Given the description of an element on the screen output the (x, y) to click on. 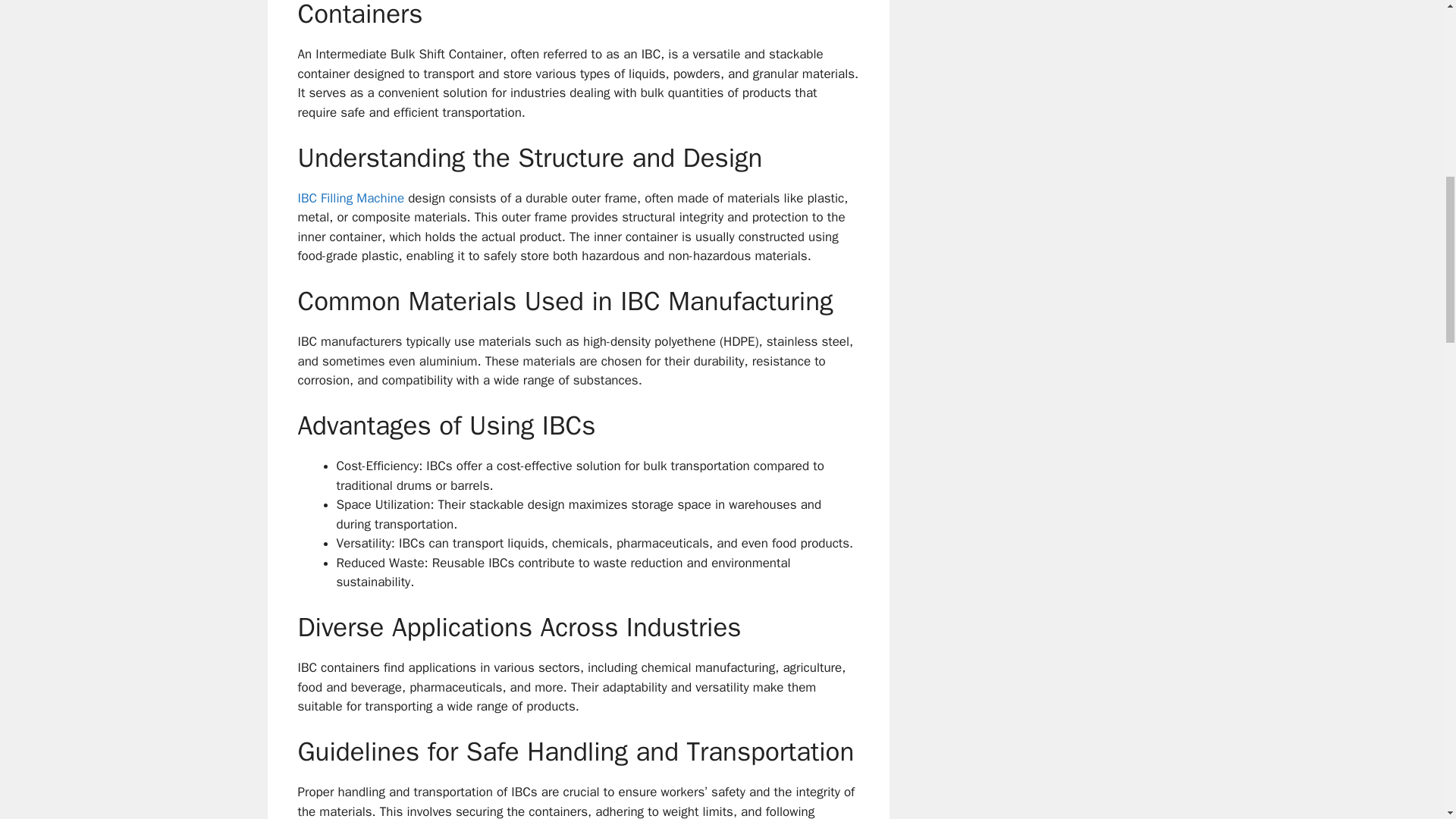
IBC Filling Machine (350, 197)
